Given the description of an element on the screen output the (x, y) to click on. 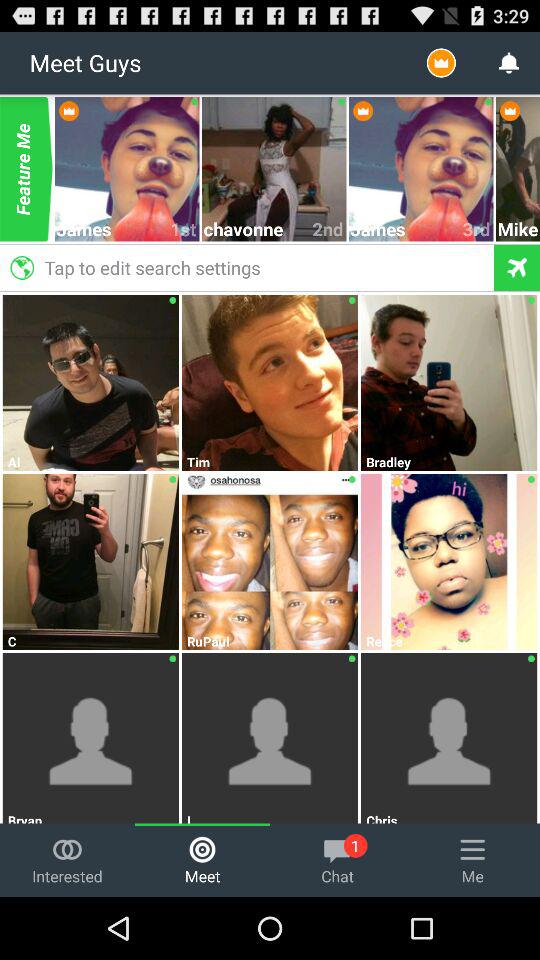
click mike atienzo icon (518, 228)
